Given the description of an element on the screen output the (x, y) to click on. 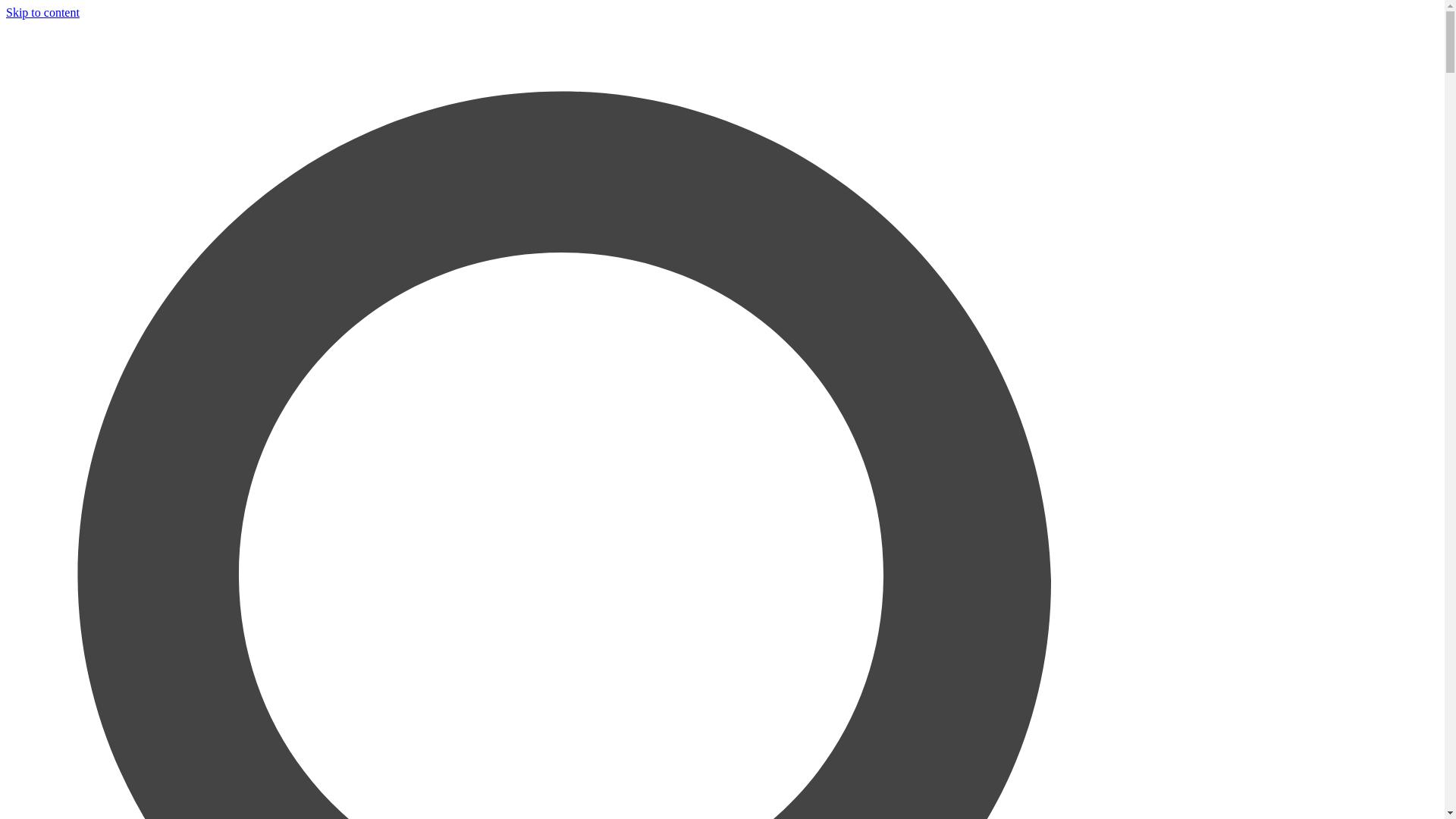
Skip to content Element type: text (42, 12)
